Given the description of an element on the screen output the (x, y) to click on. 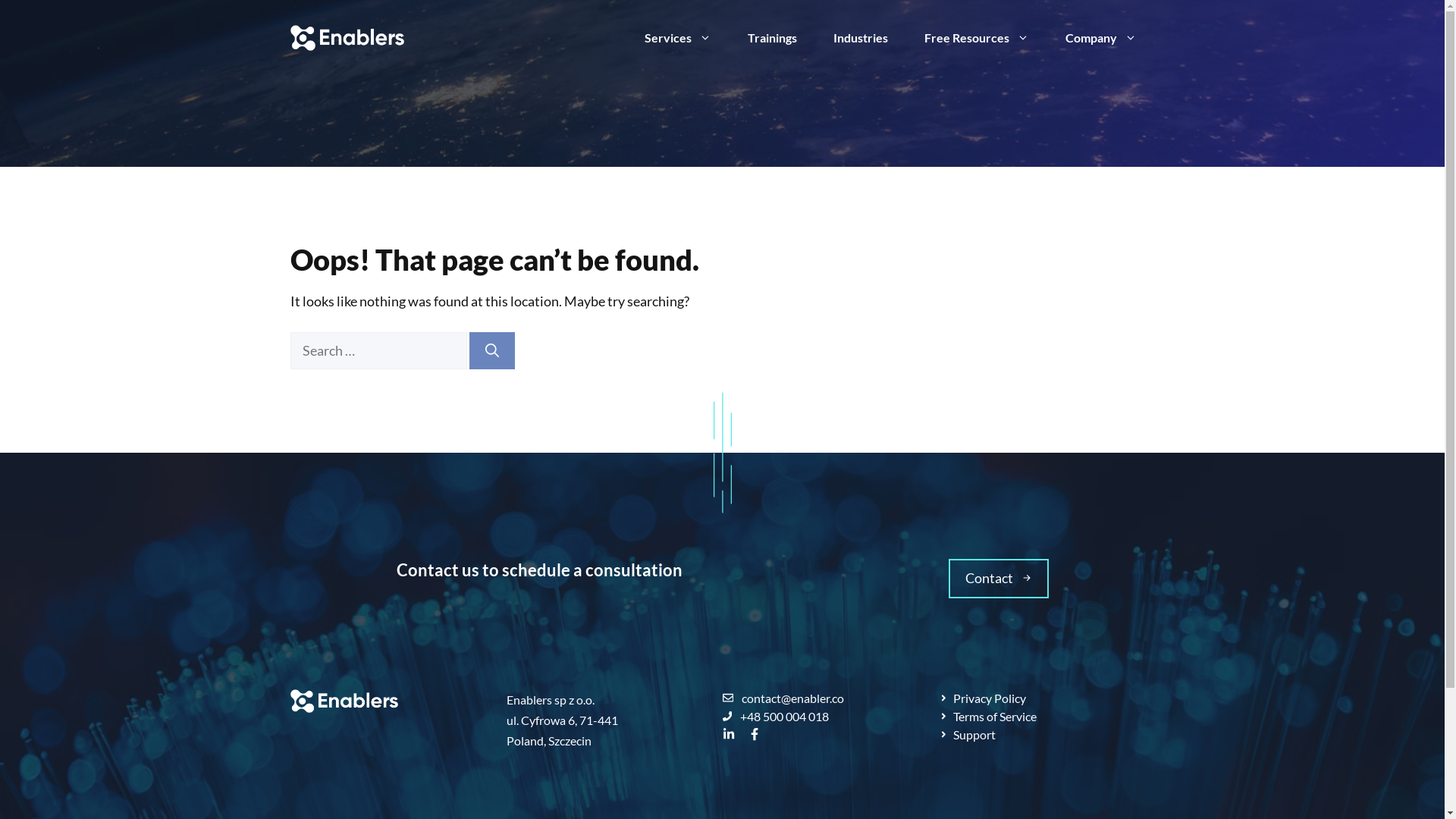
Free Resources Element type: text (975, 37)
Company Element type: text (1100, 37)
Industries Element type: text (859, 37)
Trainings Element type: text (772, 37)
Contact Element type: text (997, 578)
Terms of Service Element type: text (987, 716)
Privacy Policy Element type: text (982, 698)
Support Element type: text (966, 734)
Search for: Element type: hover (377, 350)
+48 500 004 018 Element type: text (829, 716)
Services Element type: text (677, 37)
